Given the description of an element on the screen output the (x, y) to click on. 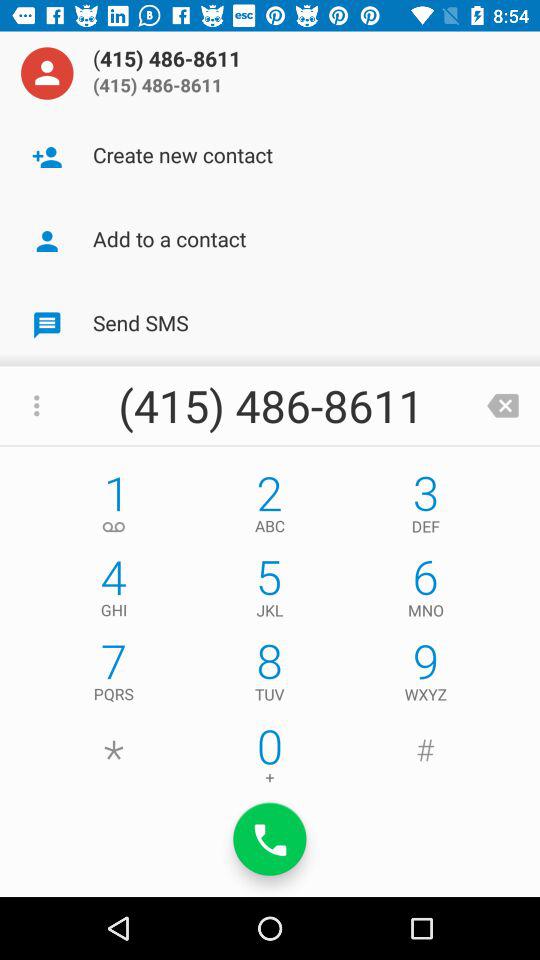
open the icon to the right of the (415) 486-8611 icon (503, 405)
